Given the description of an element on the screen output the (x, y) to click on. 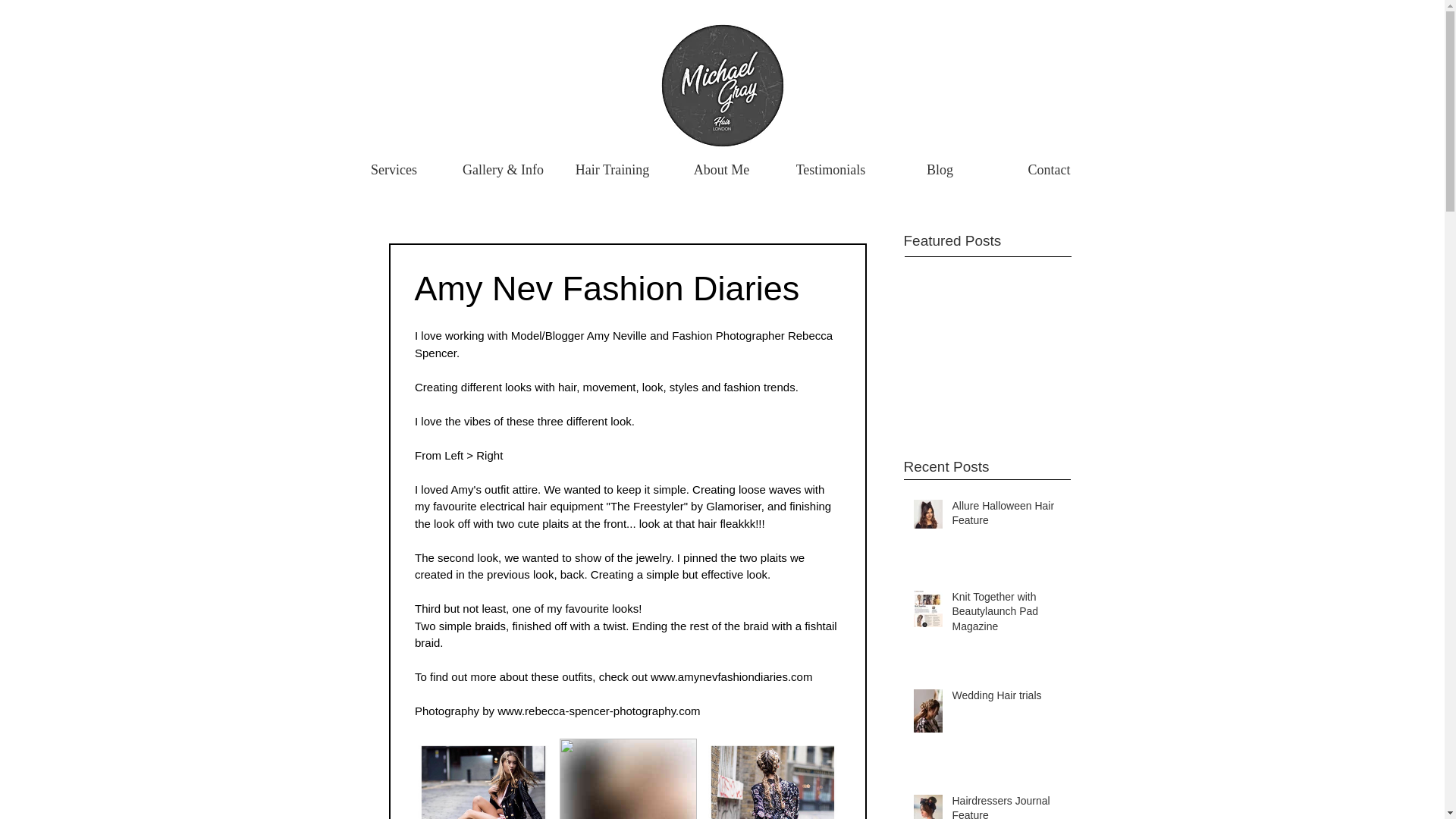
Wedding Hair trials (1006, 699)
Services (393, 169)
Blog (939, 169)
About Me (721, 169)
Allure Halloween Hair Feature (1006, 516)
Contact (1048, 169)
Testimonials (830, 169)
Hairdressers Journal Feature (1006, 806)
Hair Training (611, 169)
Knit Together with Beautylaunch Pad Magazine (1006, 614)
